Given the description of an element on the screen output the (x, y) to click on. 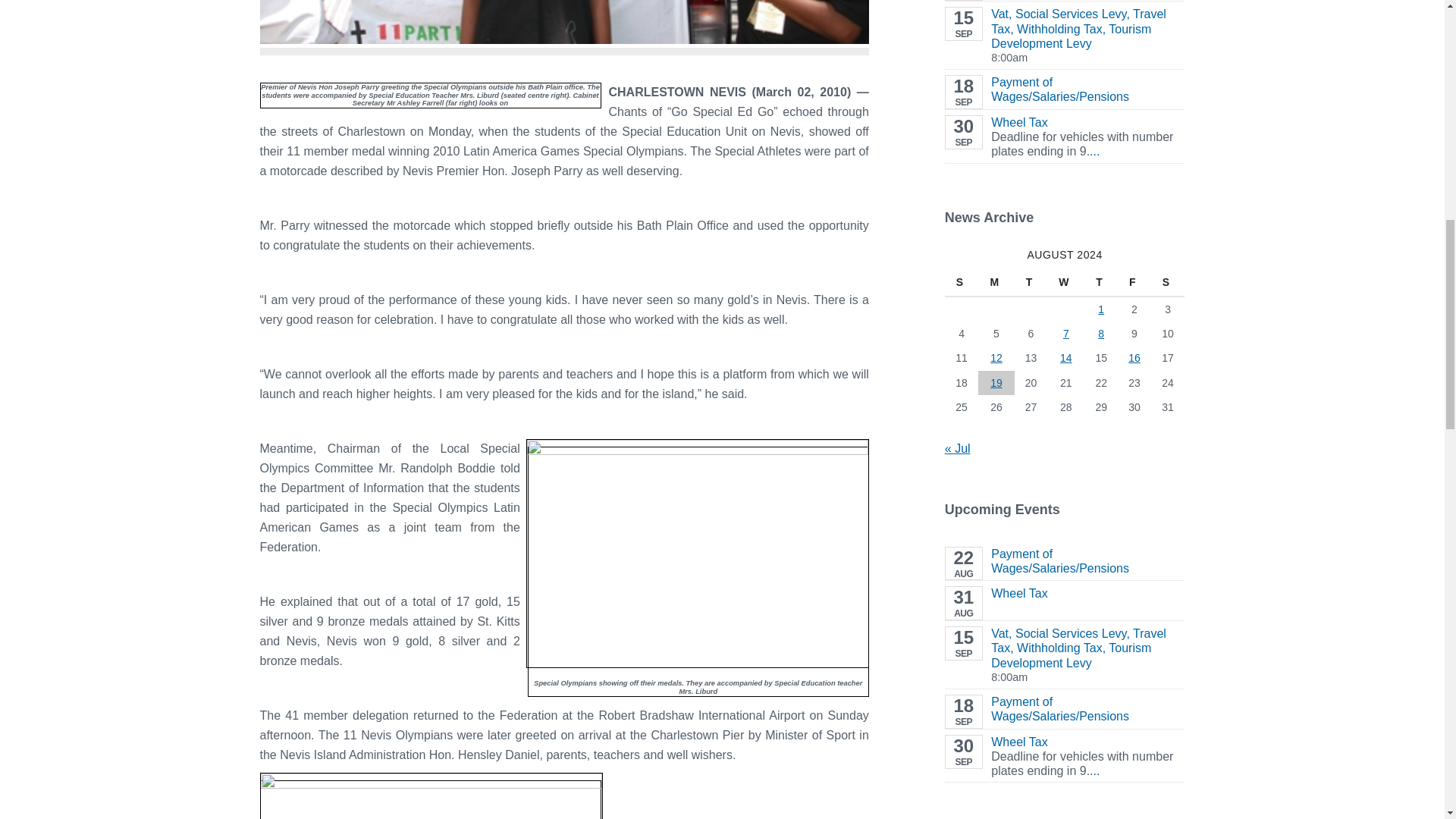
Thursday (1101, 282)
Saturday (1168, 282)
Monday (995, 282)
Friday (1134, 282)
Tuesday (1031, 282)
Sunday (961, 282)
Wednesday (1065, 282)
